Given the description of an element on the screen output the (x, y) to click on. 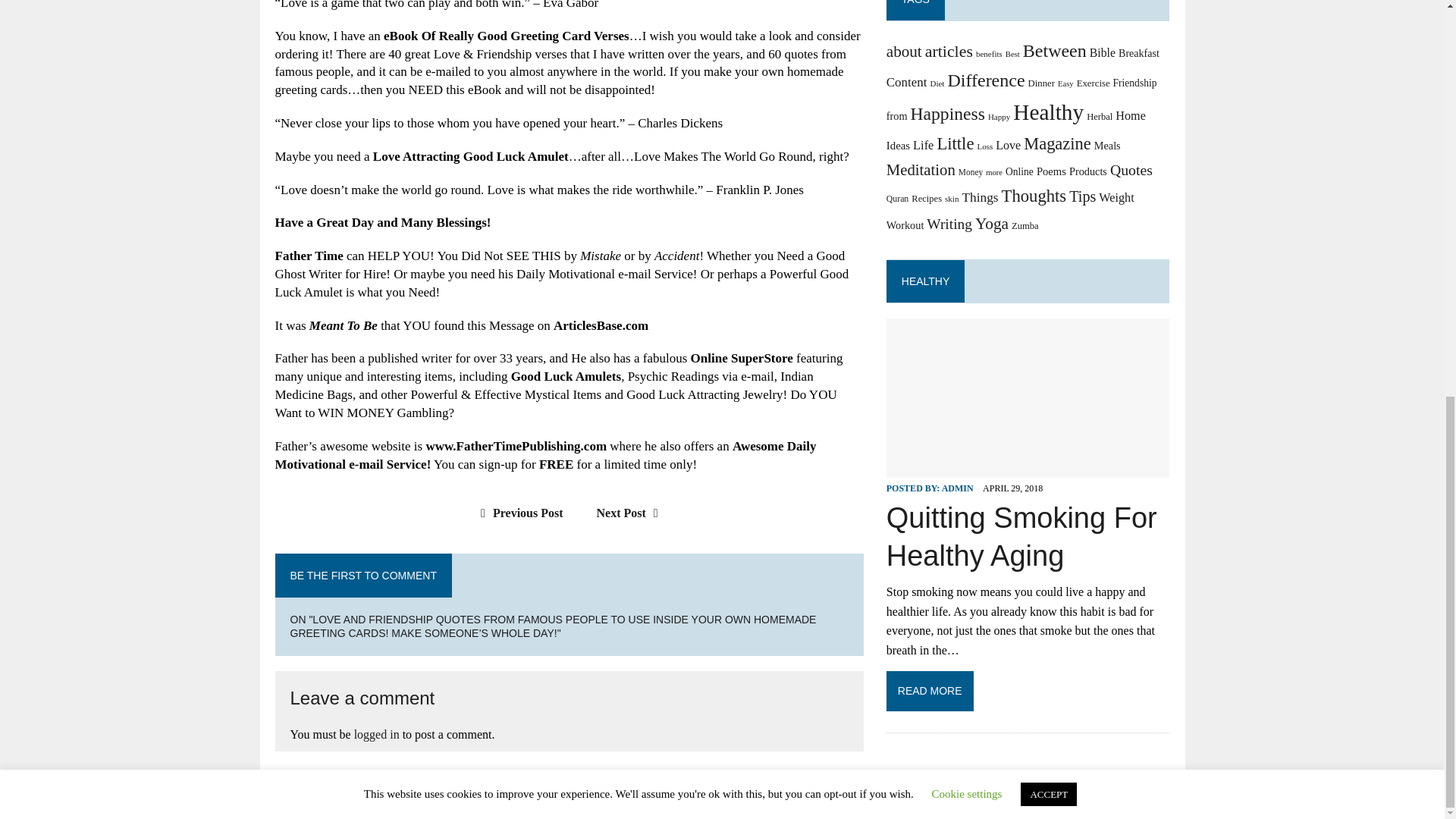
Next Post (630, 512)
Previous Post (517, 512)
about (903, 51)
Quitting Smoking For Healthy Aging (1028, 467)
Quitting Smoking For Healthy Aging (1021, 536)
logged in (375, 734)
